Given the description of an element on the screen output the (x, y) to click on. 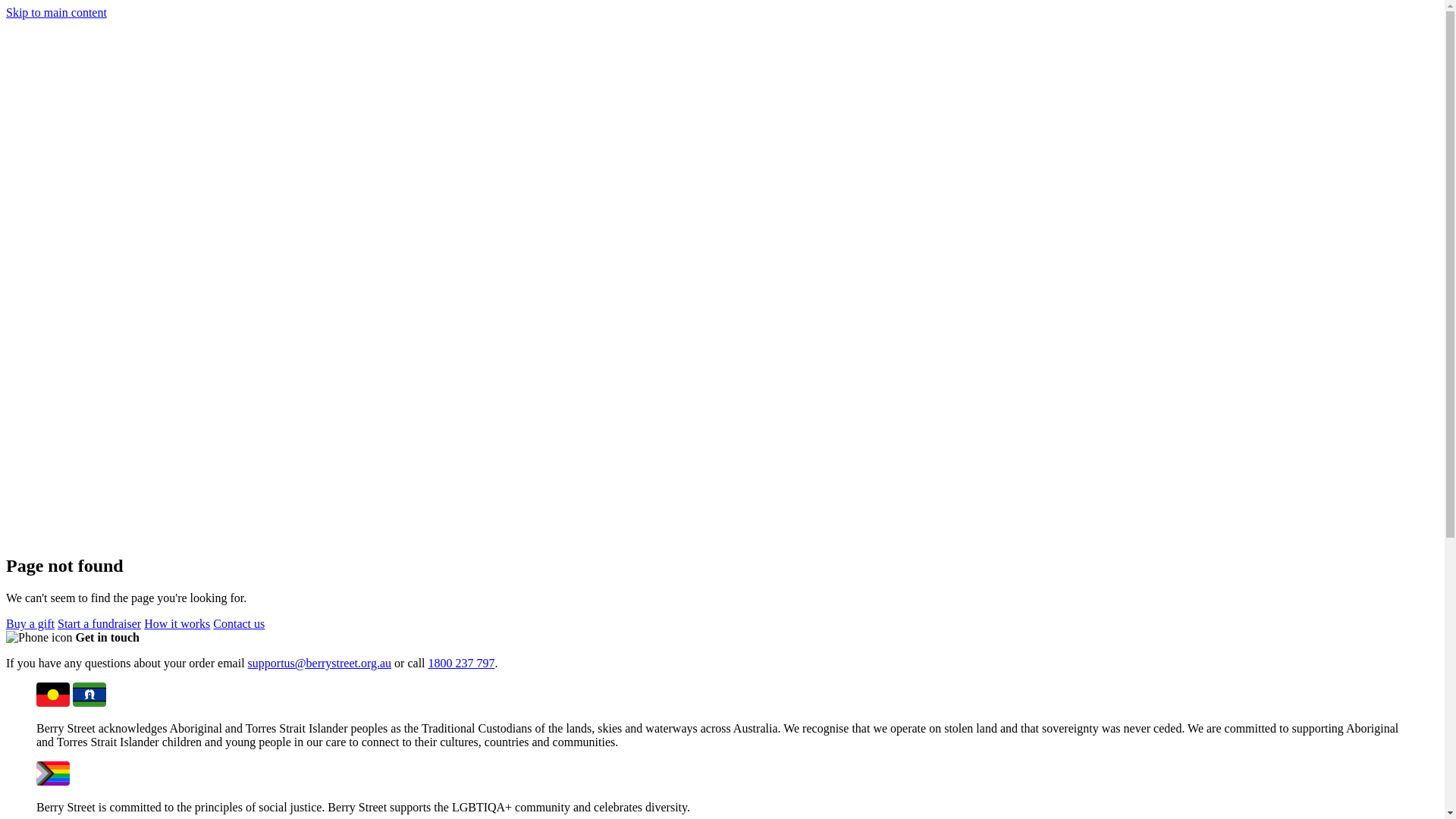
Buy a gift Element type: text (30, 623)
How it works Element type: text (177, 623)
Contact us Element type: text (238, 623)
Start a fundraiser Element type: text (99, 623)
supportus@berrystreet.org.au Element type: text (319, 662)
Skip to main content Element type: text (56, 12)
1800 237 797 Element type: text (461, 662)
